Given the description of an element on the screen output the (x, y) to click on. 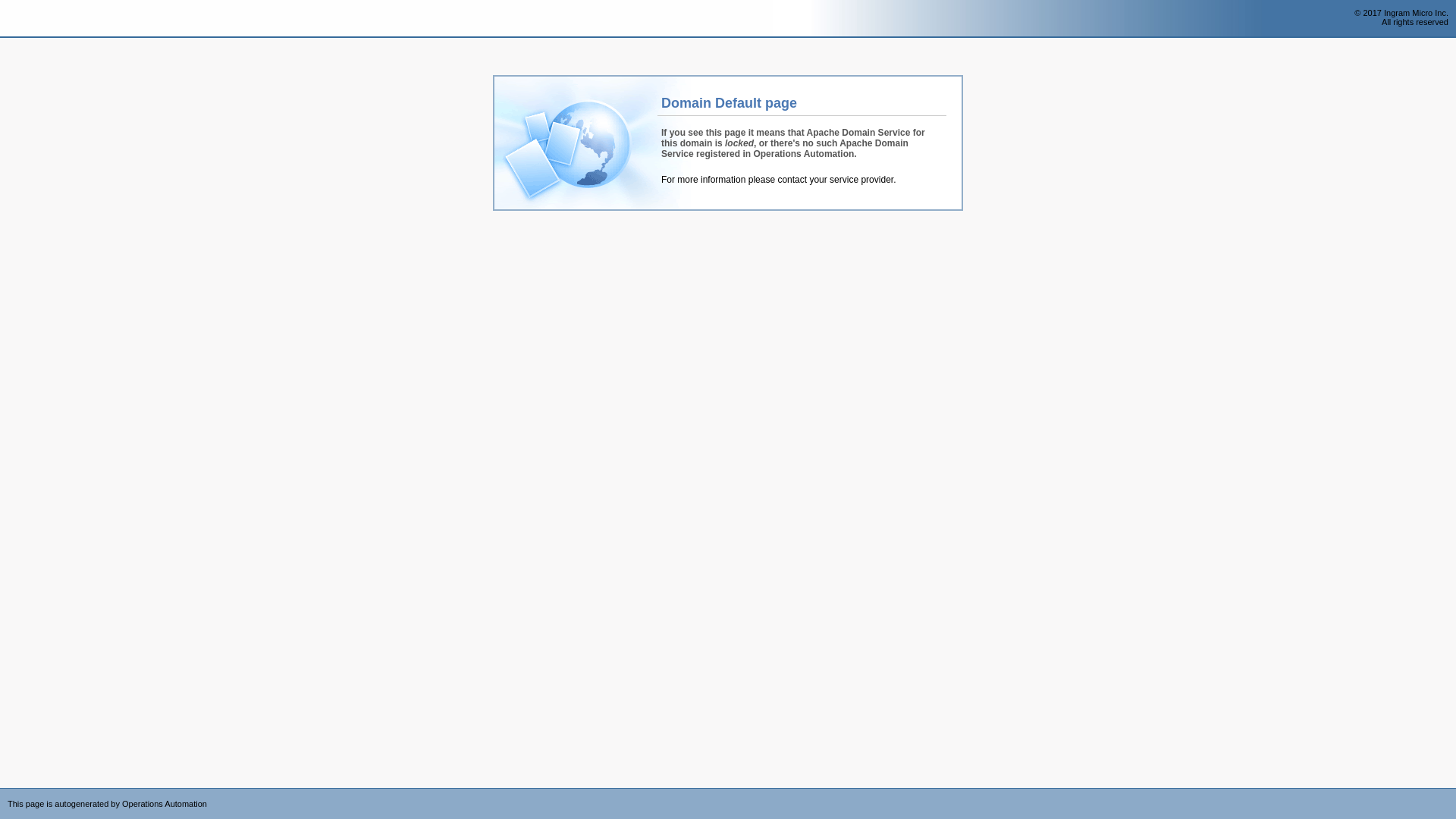
Powered by CloudBlue Commerce Element type: hover (1447, 792)
Operations Automation Element type: text (39, 18)
